Given the description of an element on the screen output the (x, y) to click on. 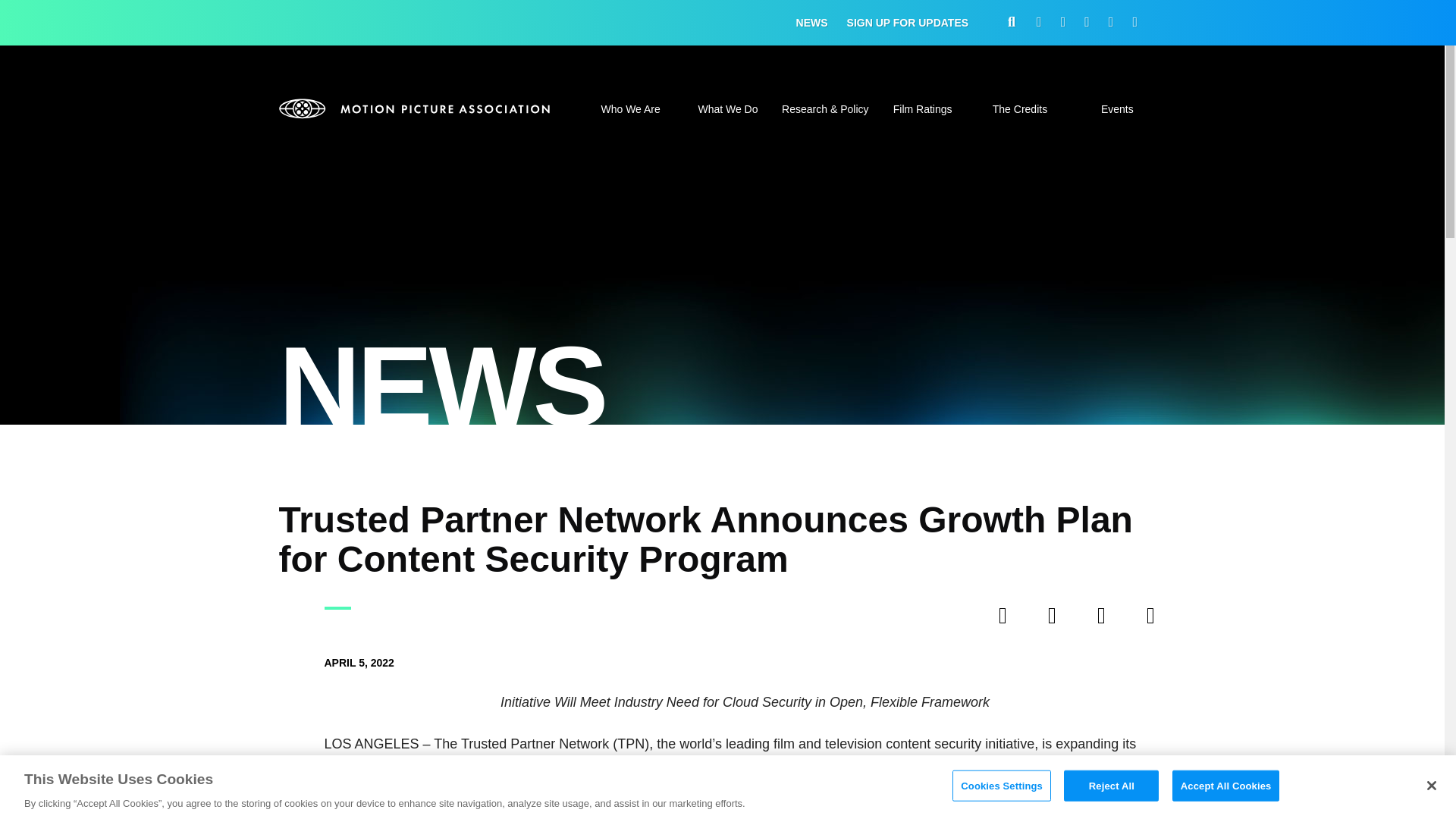
mpa-banner-bt (415, 108)
mpa-banner-bt (415, 108)
NEWS (812, 22)
SIGN UP FOR UPDATES (908, 22)
Search (1077, 408)
Who We Are (629, 117)
